Given the description of an element on the screen output the (x, y) to click on. 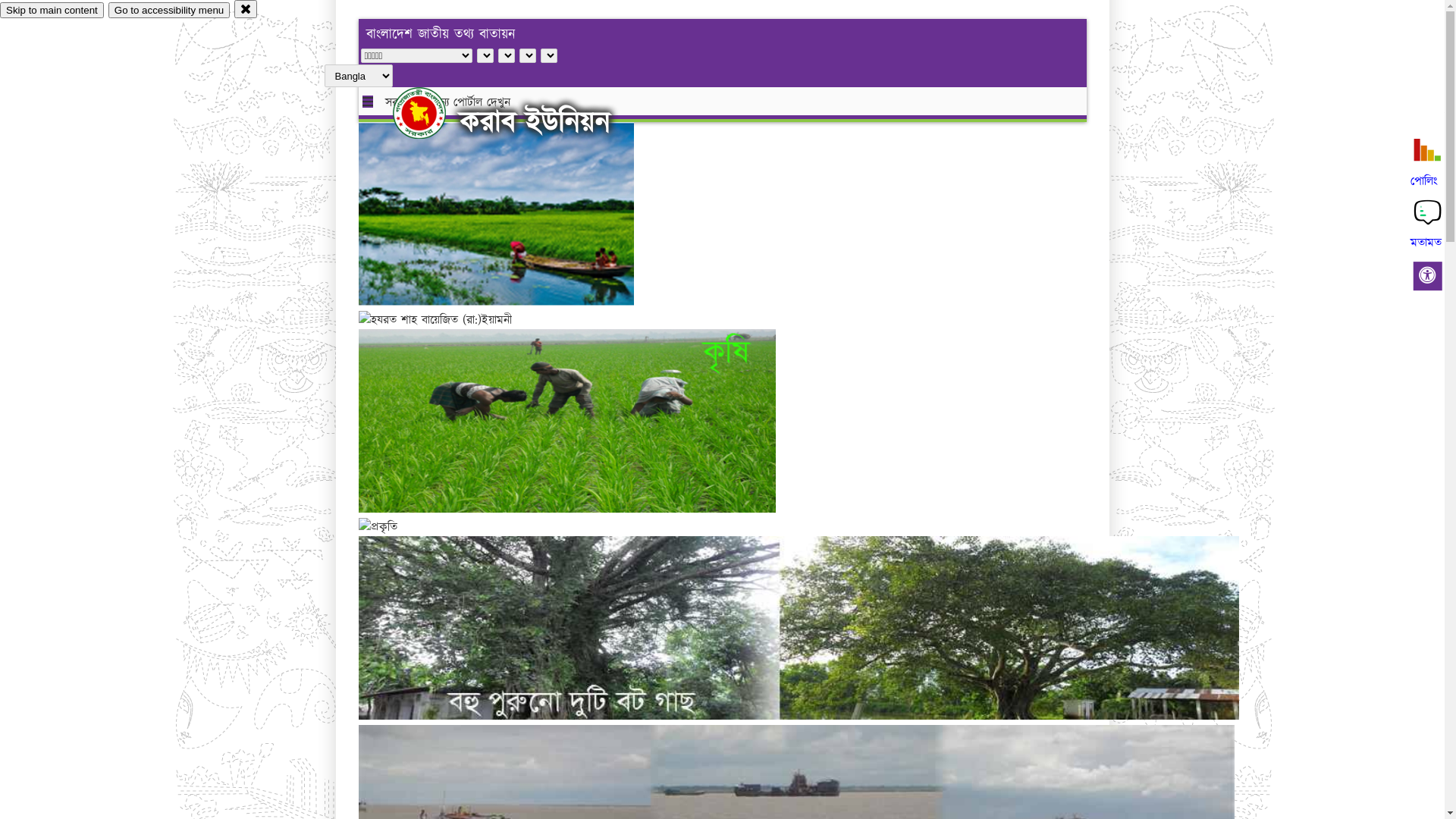
Go to accessibility menu Element type: text (168, 10)

                
             Element type: hover (431, 112)
close Element type: hover (245, 9)
Skip to main content Element type: text (51, 10)
